Given the description of an element on the screen output the (x, y) to click on. 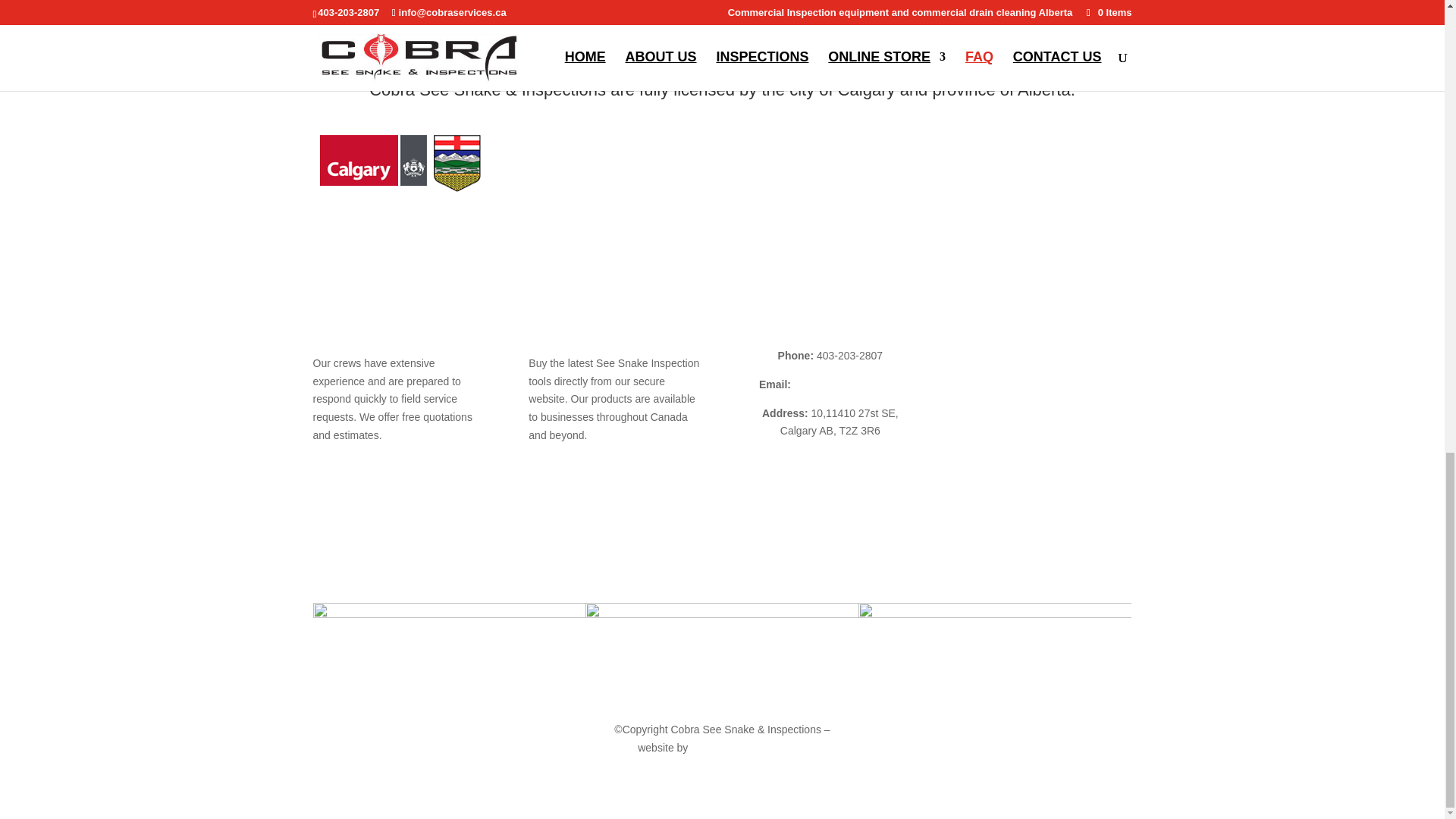
Inspections (990, 384)
FAQ (971, 440)
city-logos (399, 161)
CONTACT INFORMATION (829, 326)
Online Store (991, 413)
cobra-services-logo (449, 637)
advancewebsolutions.ca (748, 747)
dandt-plumbing (995, 637)
Contact Us (988, 469)
ONLINE COMMERCIAL SEE SNAKE INSPECTION STORE (600, 336)
